Given the description of an element on the screen output the (x, y) to click on. 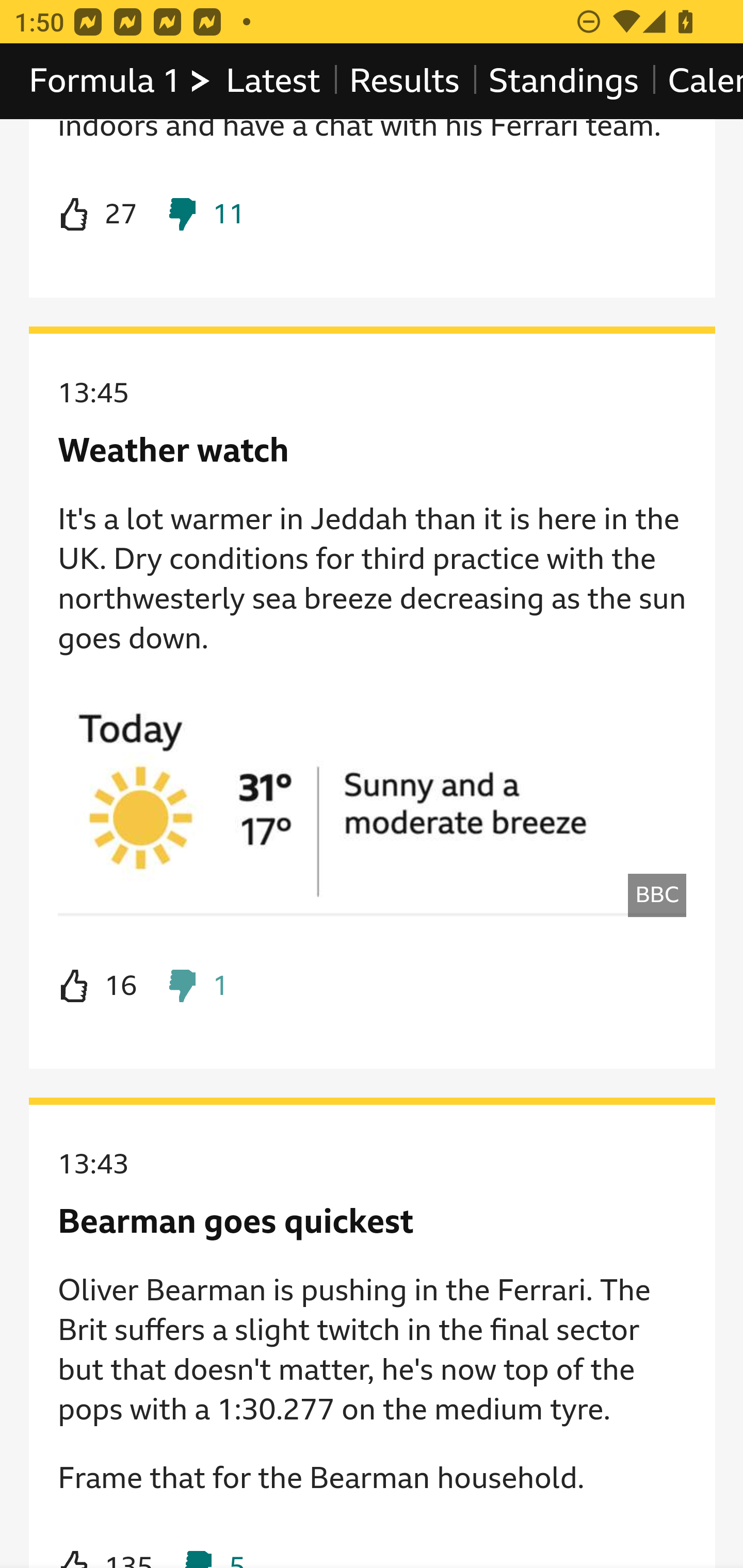
Like (97, 214)
Disliked (204, 214)
Like (97, 986)
Disliked (196, 986)
Like (105, 1547)
Disliked (212, 1547)
